Given the description of an element on the screen output the (x, y) to click on. 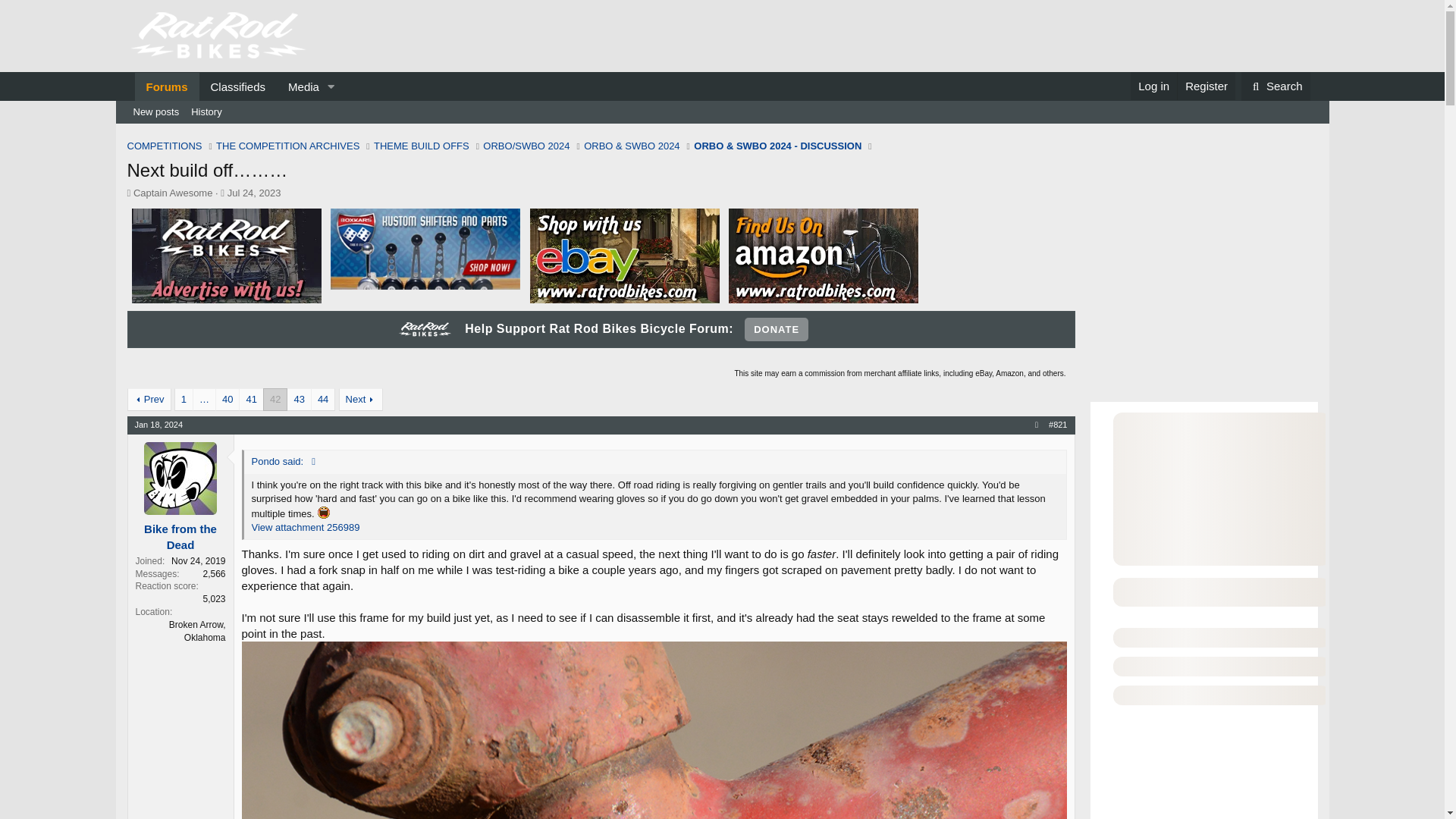
Search (1275, 86)
Donate (776, 329)
Donate (776, 329)
Media (298, 86)
Captain Awesome (172, 193)
Jul 24, 2023 (254, 193)
Log in (1153, 85)
History (205, 111)
Jul 24, 2023 at 1:54 PM (722, 111)
Forums (254, 193)
Classifieds (238, 86)
